Given the description of an element on the screen output the (x, y) to click on. 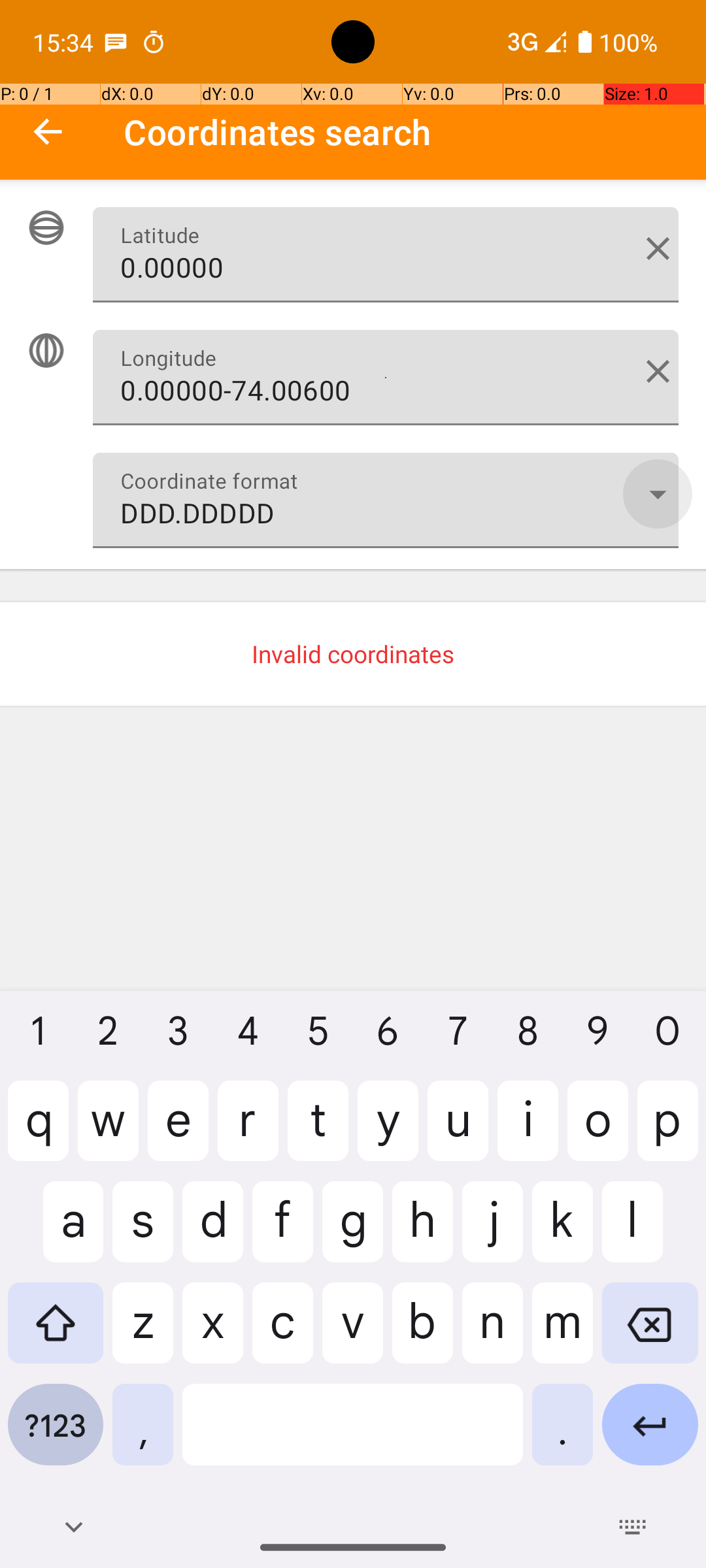
Coordinates search Element type: android.widget.TextView (414, 131)
0.00000 Element type: android.widget.EditText (385, 254)
0.00000-74.00600 Element type: android.widget.EditText (385, 377)
DDD.DDDDD Element type: android.widget.EditText (385, 500)
Coordinate format Element type: android.widget.ImageButton (657, 493)
Invalid coordinates Element type: android.widget.TextView (352, 653)
